Given the description of an element on the screen output the (x, y) to click on. 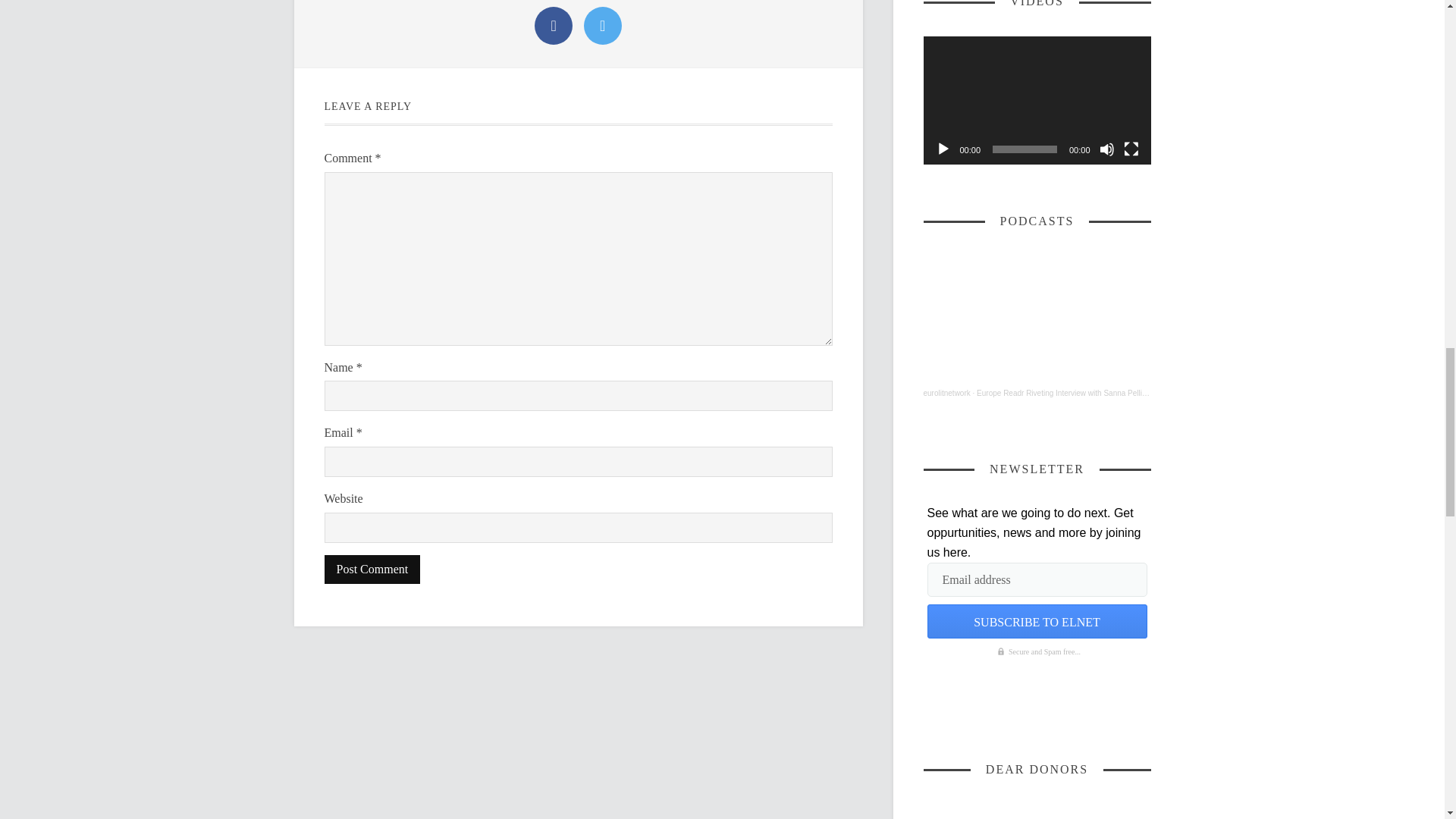
Post Comment (372, 569)
eurolitnetwork (947, 393)
Play (943, 149)
Fullscreen (1131, 149)
Mute (1107, 149)
Europe Readr Riveting Interview with Sanna Pelliccioni (1068, 393)
